Given the description of an element on the screen output the (x, y) to click on. 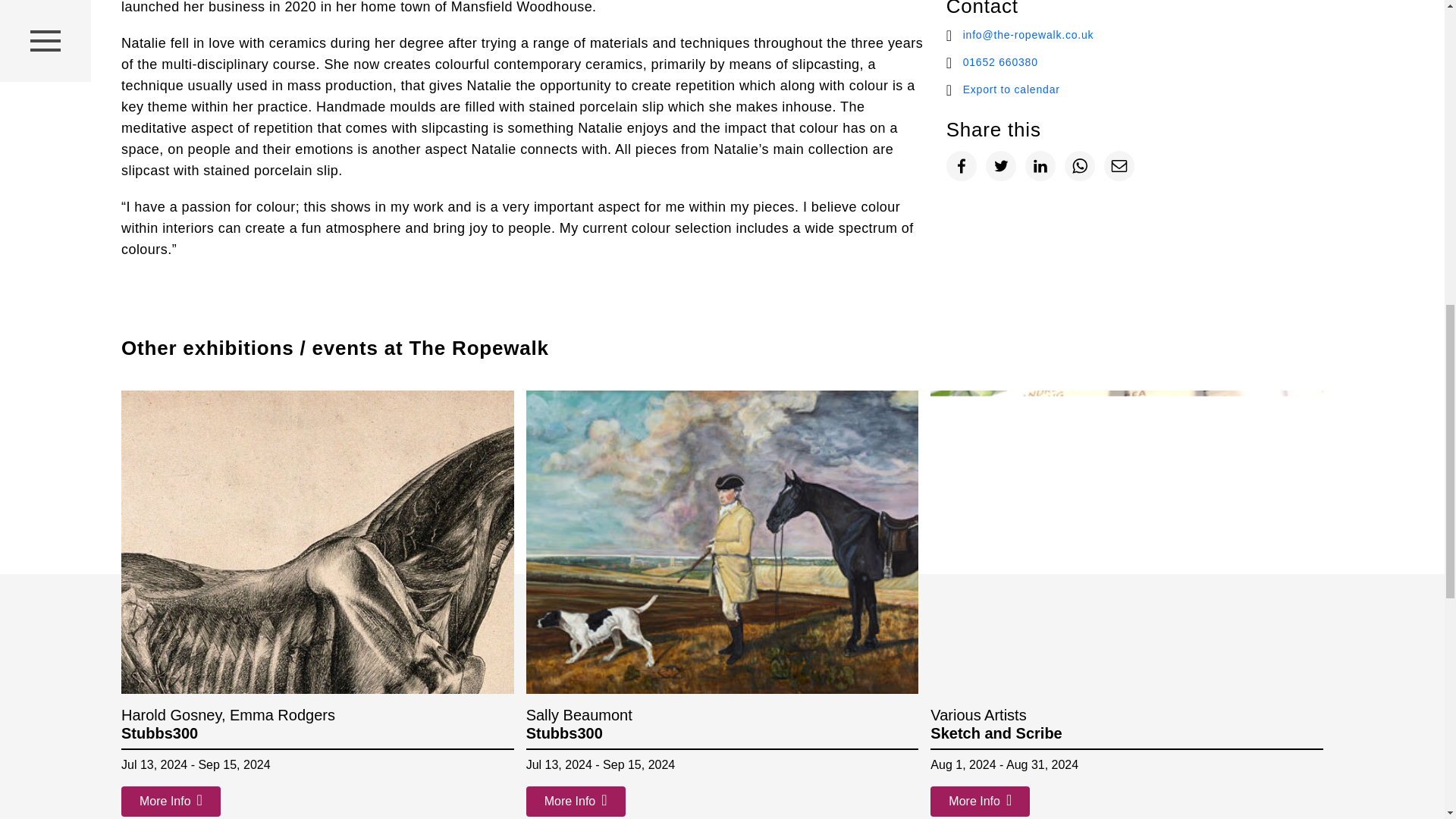
01652 660380 (1142, 61)
More Info (979, 801)
More Info (170, 801)
Share on Facebook (961, 165)
Share on LinkedIn (1040, 165)
More Info (575, 801)
Share on Twitter (1000, 165)
Export to calendar (1142, 89)
